Given the description of an element on the screen output the (x, y) to click on. 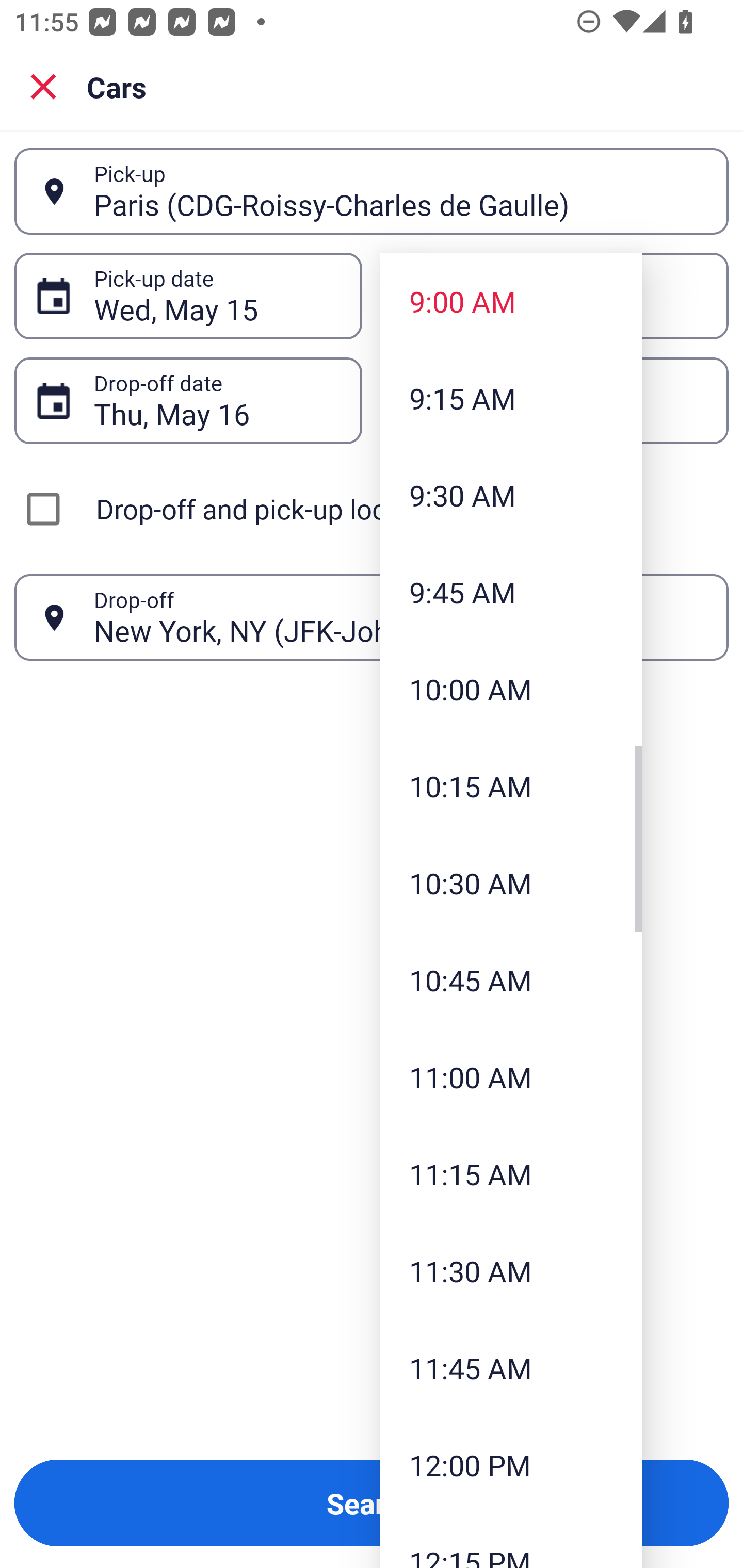
9:00 AM (510, 300)
9:15 AM (510, 397)
9:30 AM (510, 495)
9:45 AM (510, 592)
10:00 AM (510, 688)
10:15 AM (510, 785)
10:30 AM (510, 882)
10:45 AM (510, 979)
11:00 AM (510, 1076)
11:15 AM (510, 1174)
11:30 AM (510, 1270)
11:45 AM (510, 1366)
12:00 PM (510, 1464)
